Given the description of an element on the screen output the (x, y) to click on. 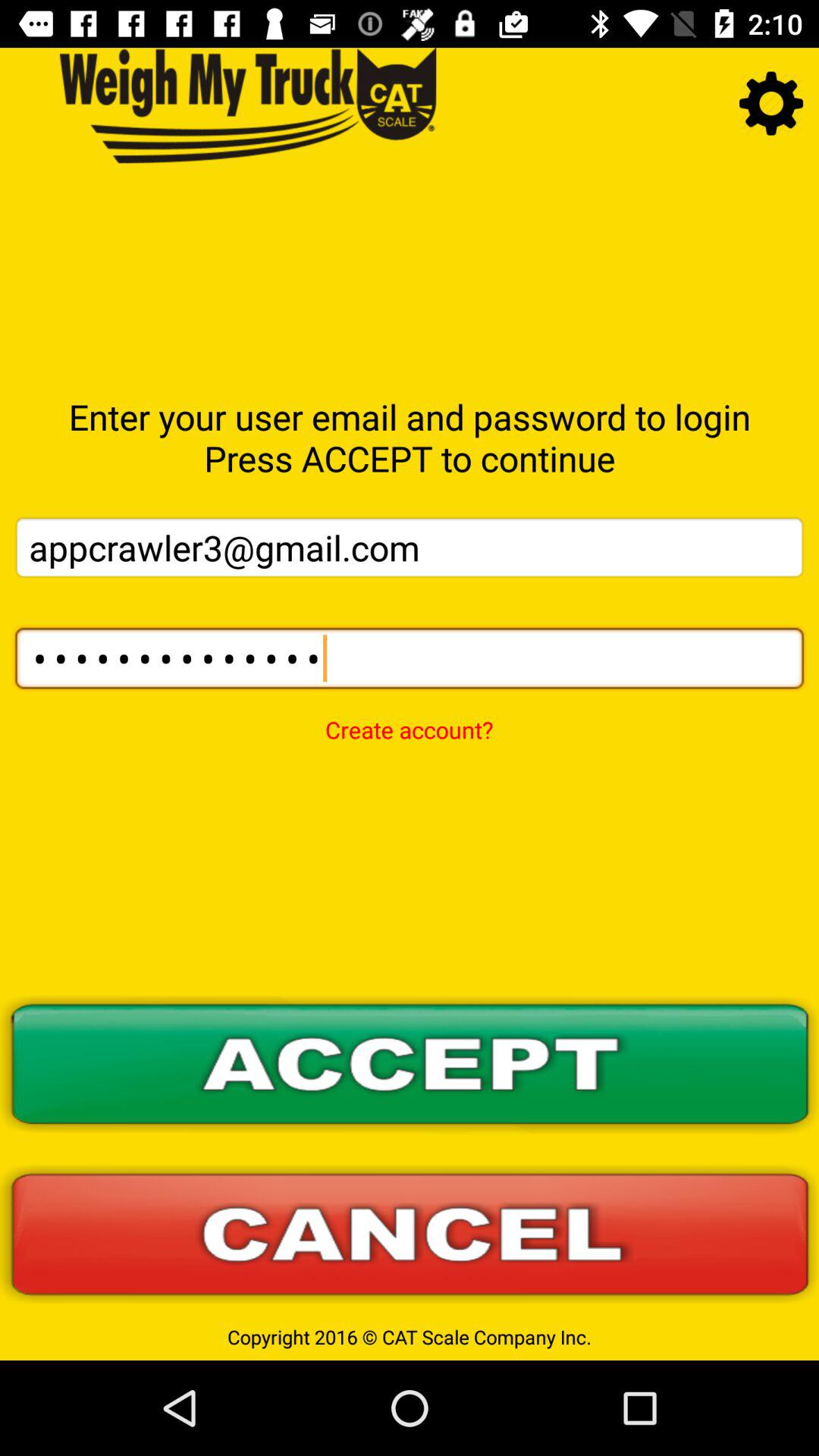
click the appcrawler3116 (409, 657)
